Given the description of an element on the screen output the (x, y) to click on. 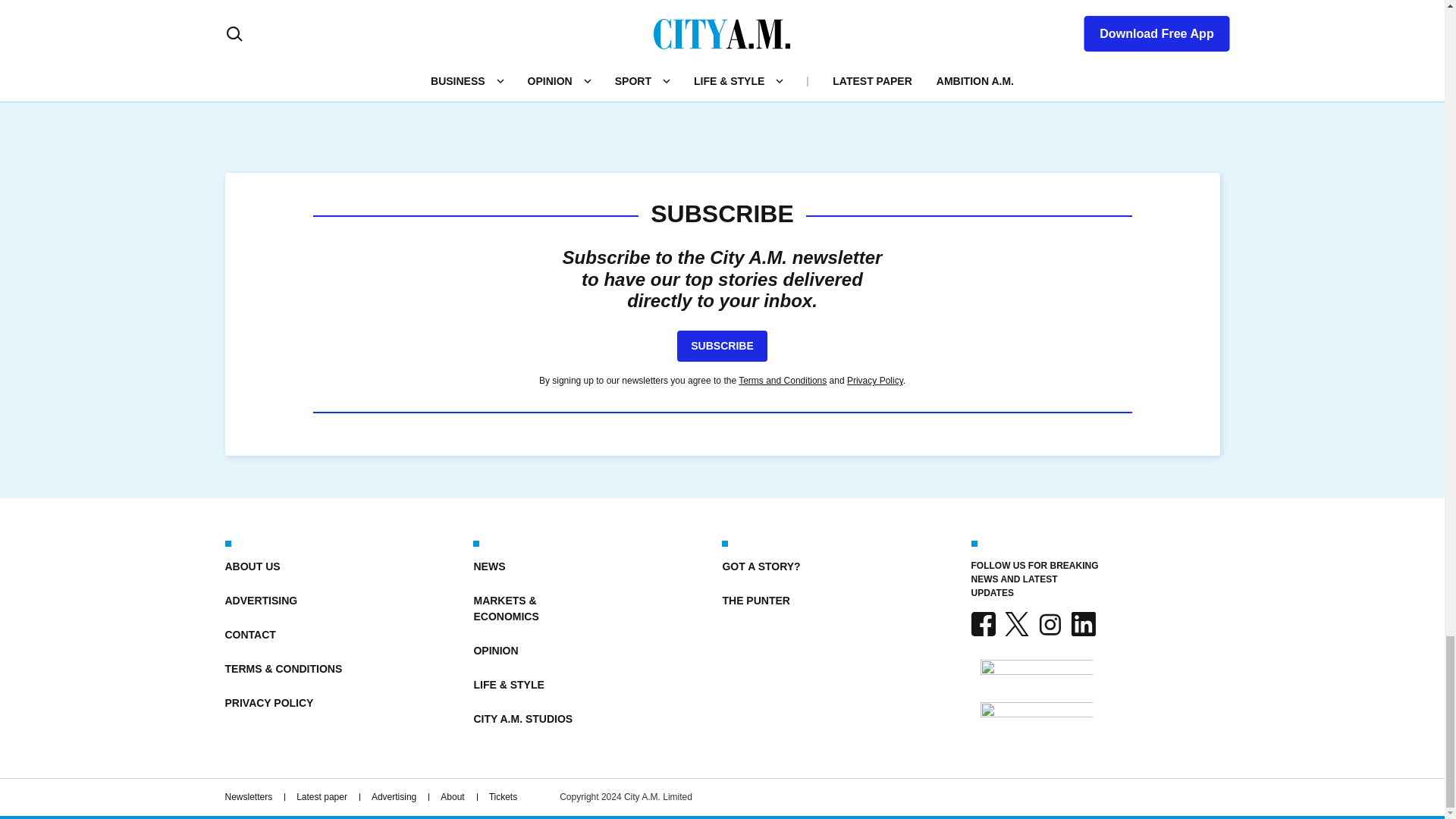
X (1015, 623)
INSTAGRAM (1048, 623)
FACEBOOK (982, 623)
LINKEDIN (1082, 623)
